Given the description of an element on the screen output the (x, y) to click on. 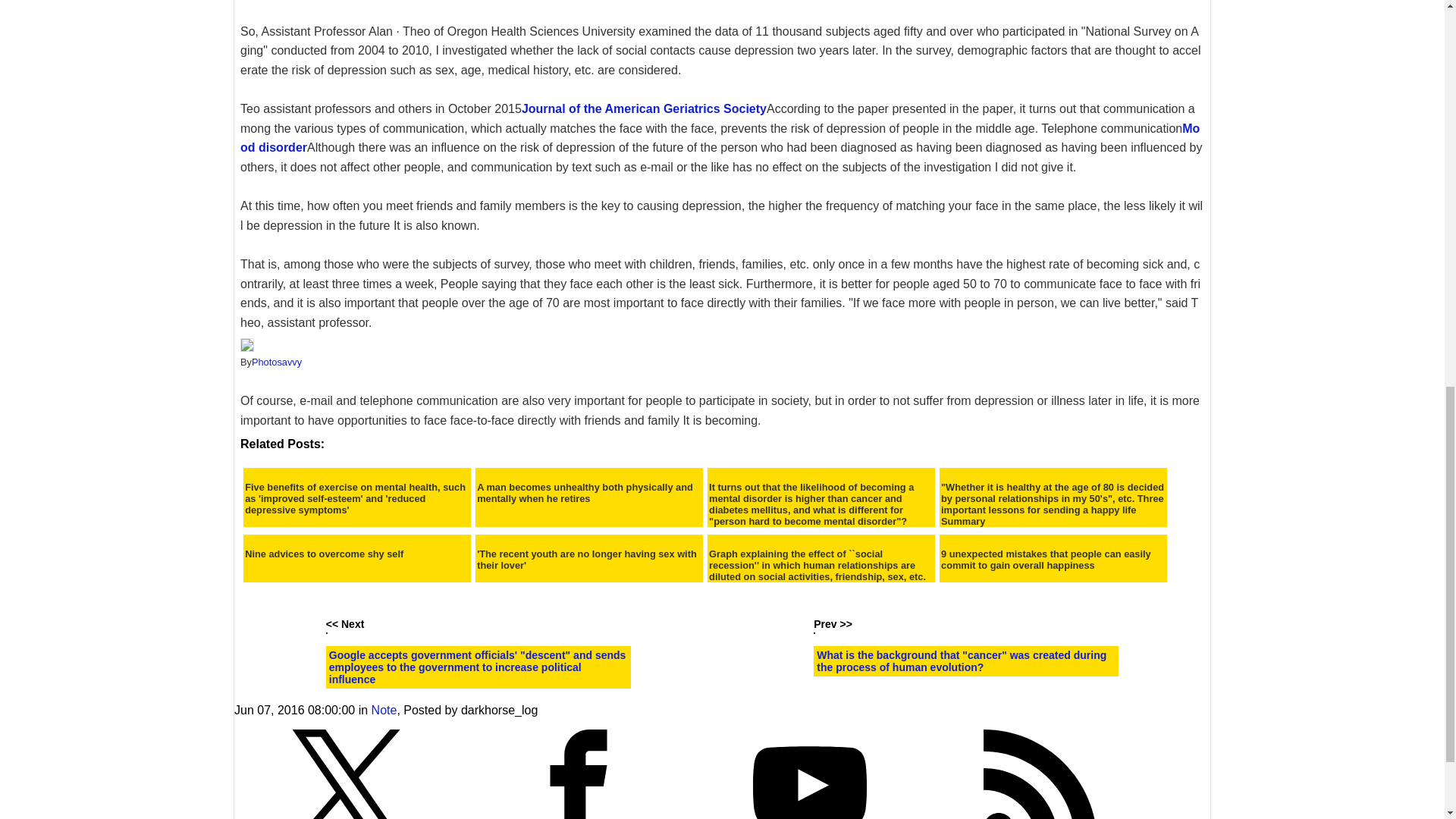
Nine advices to overcome shy self (323, 553)
Note (384, 709)
'The recent youth are no longer having sex with their lover' (589, 558)
Photosavvy (276, 361)
